Given the description of an element on the screen output the (x, y) to click on. 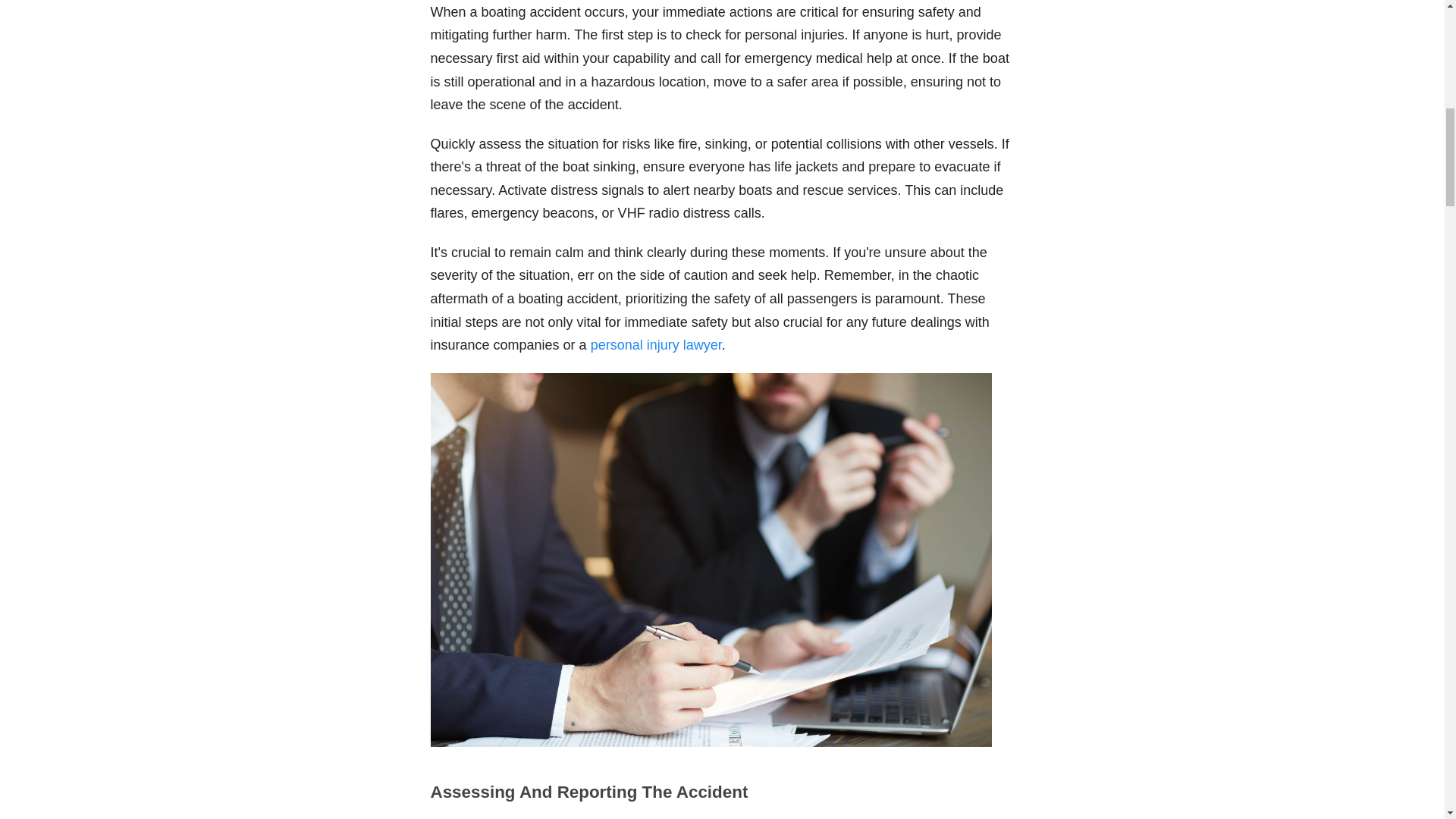
personal injury lawyer (656, 344)
